Given the description of an element on the screen output the (x, y) to click on. 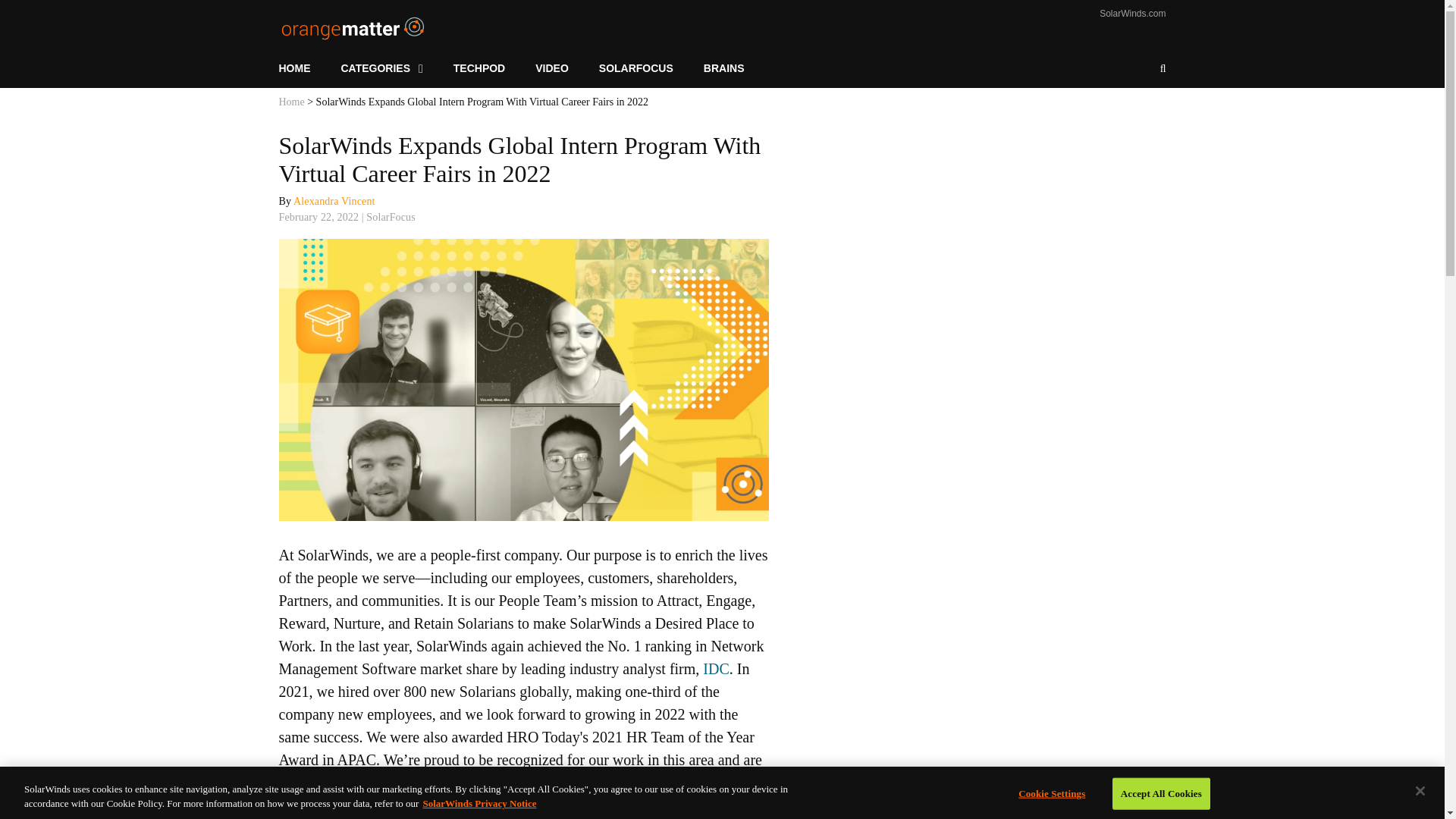
BRAINS (724, 68)
SolarWinds.com (1132, 13)
TECHPOD (478, 68)
SOLARFOCUS (635, 68)
HOME (302, 68)
CATEGORIES (382, 68)
VIDEO (551, 68)
SolarFocus (390, 216)
Alexandra Vincent (334, 201)
IDC (716, 668)
Home (291, 101)
